Given the description of an element on the screen output the (x, y) to click on. 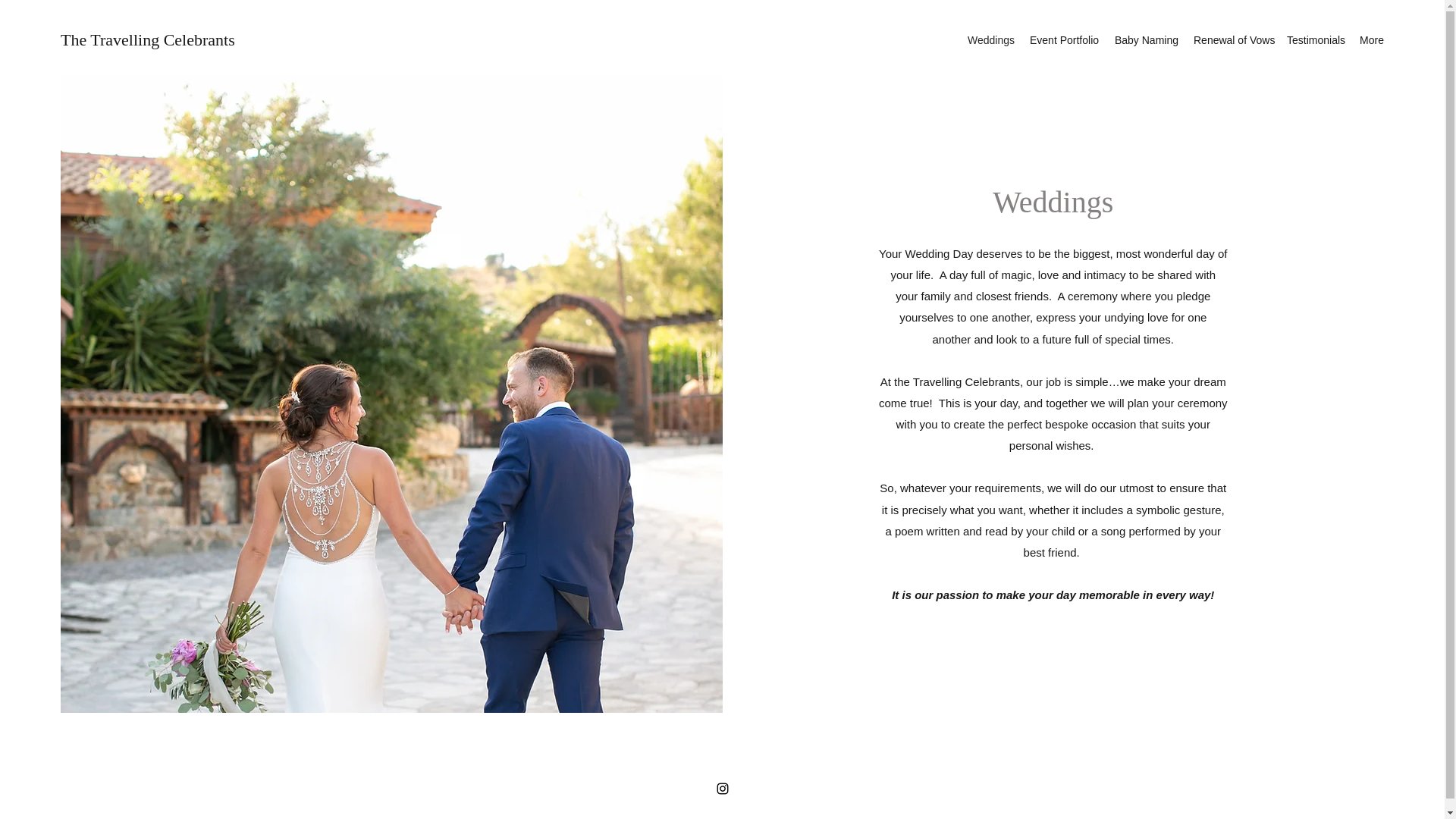
Event Portfolio (1064, 39)
Renewal of Vows (1232, 39)
Weddings (990, 39)
Baby Naming (1146, 39)
The Travelling Celebrants (147, 39)
Testimonials (1315, 39)
